Given the description of an element on the screen output the (x, y) to click on. 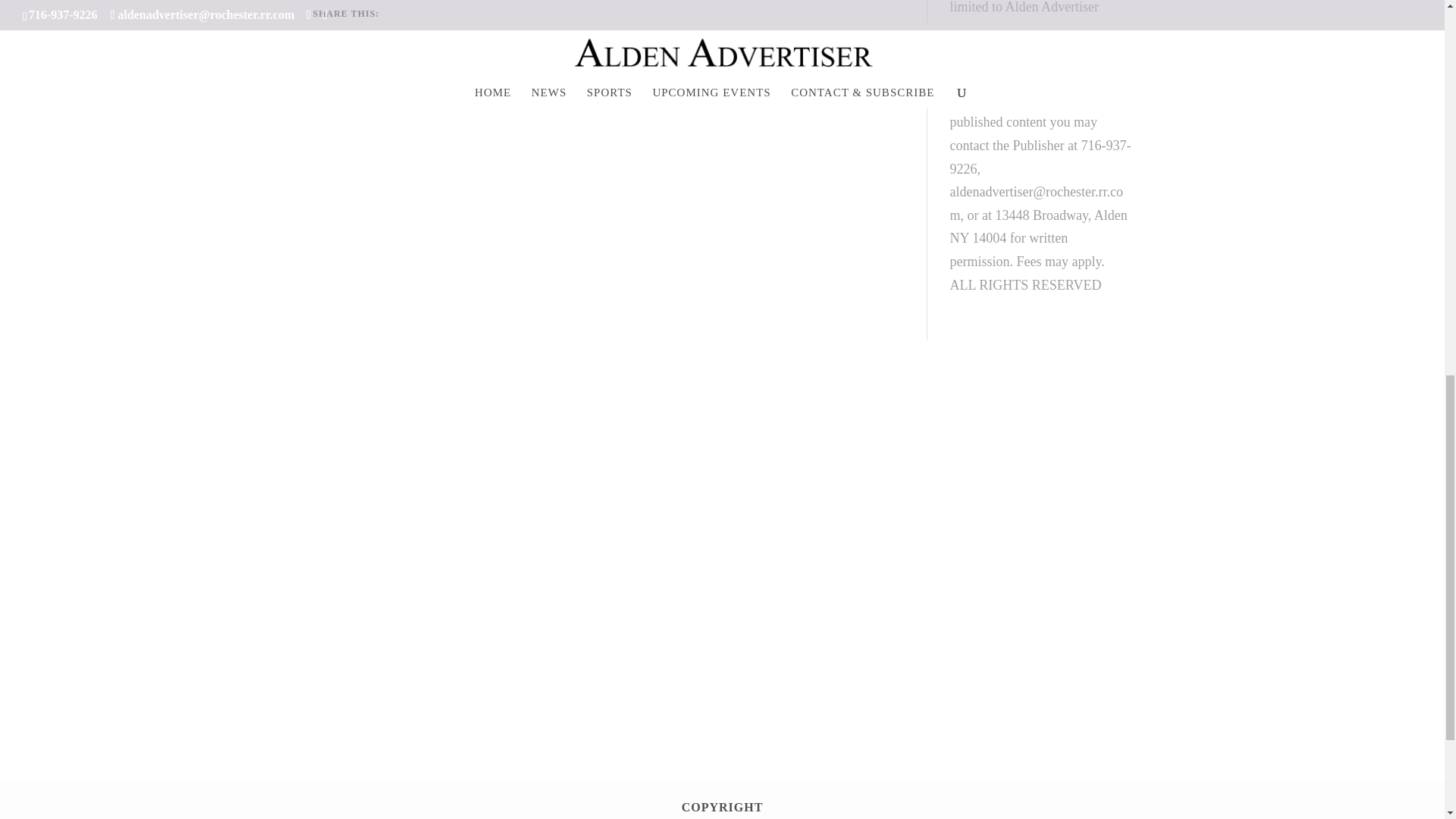
Search (863, 425)
Click to share on Facebook (350, 47)
Email (640, 47)
Facebook (350, 47)
Twitter (427, 47)
Tumblr (495, 47)
Click to share on Pinterest (569, 47)
Click to email a link to a friend (640, 47)
Click to share on Tumblr (495, 47)
Click to share on Twitter (427, 47)
